Given the description of an element on the screen output the (x, y) to click on. 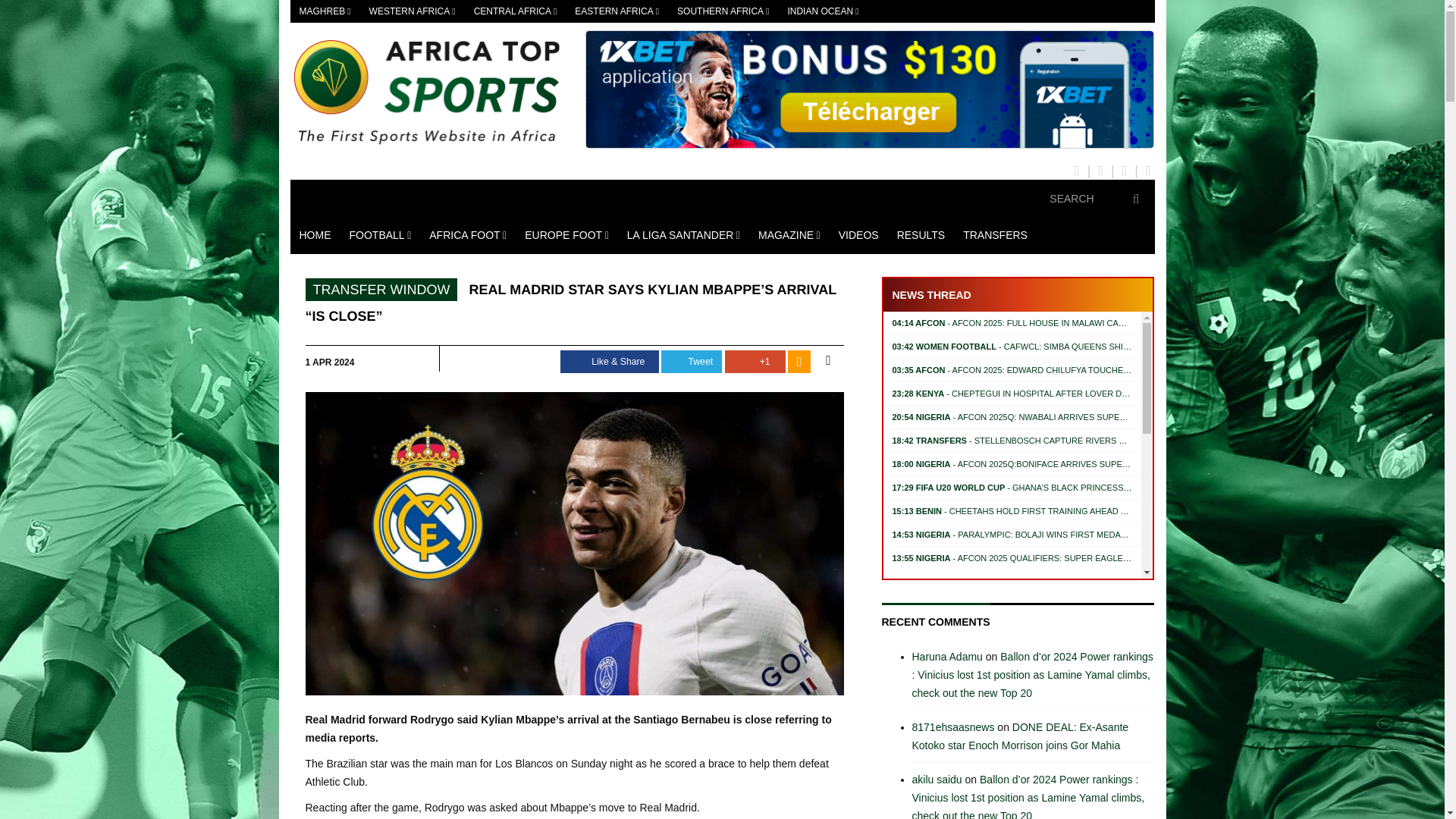
Mail this (827, 360)
ATS RSS feed (798, 362)
Share on Google Plus (755, 361)
Share on Twitter (691, 361)
CENTRAL AFRICA (515, 11)
MAGHREB (324, 11)
1Xbet (869, 88)
WESTERN AFRICA (411, 11)
EASTERN AFRICA (617, 11)
